Given the description of an element on the screen output the (x, y) to click on. 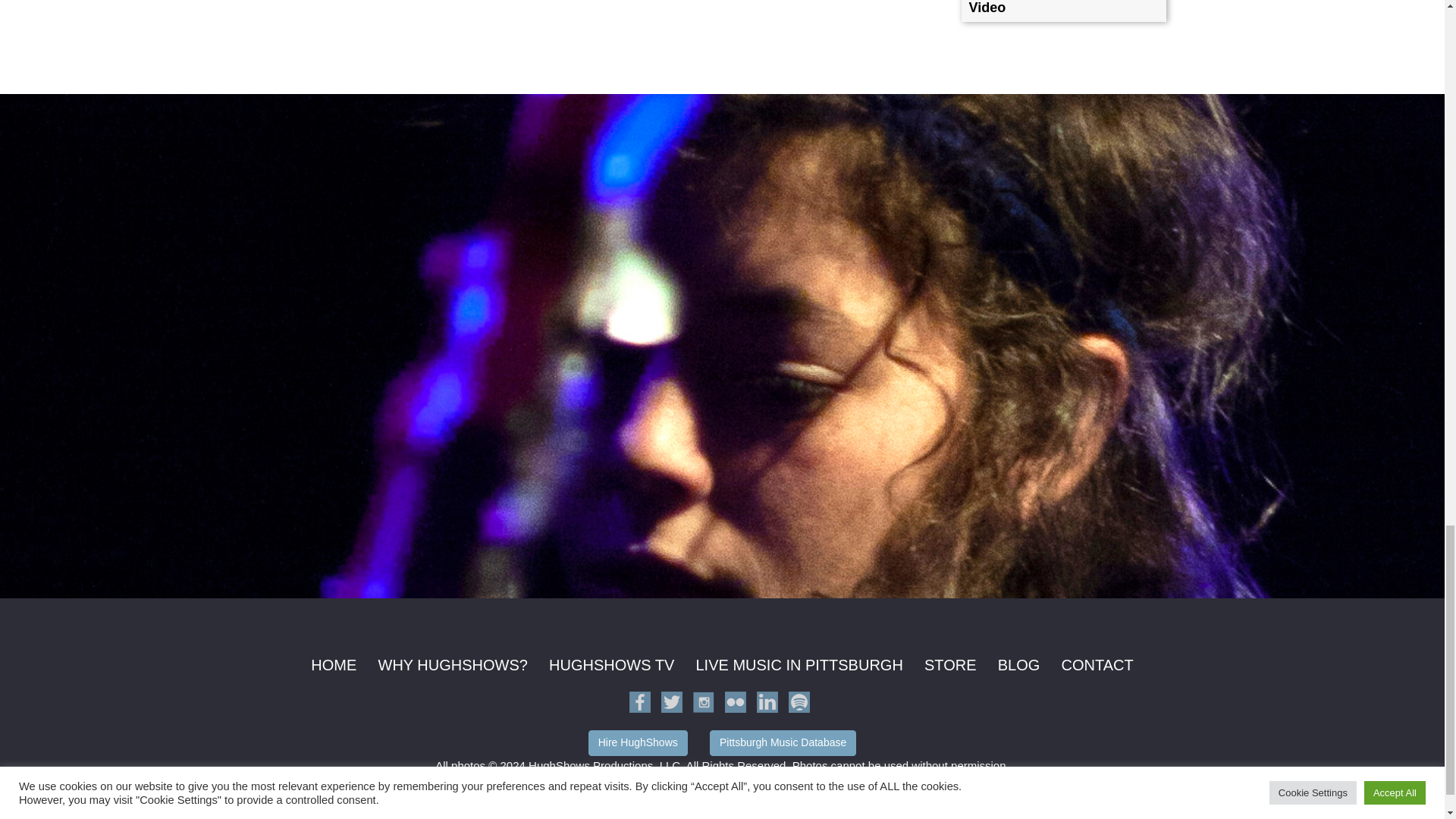
Hire HughShows (637, 742)
Follow Us on Spotify  (799, 701)
Higher Images Inc (745, 785)
Follow Us on Facebook (639, 701)
Follow Us on Instagram (703, 701)
Follow Us on Flickr (735, 701)
Follow Us on Twitter (671, 701)
Follow Us on LinkedIn (767, 701)
